Given the description of an element on the screen output the (x, y) to click on. 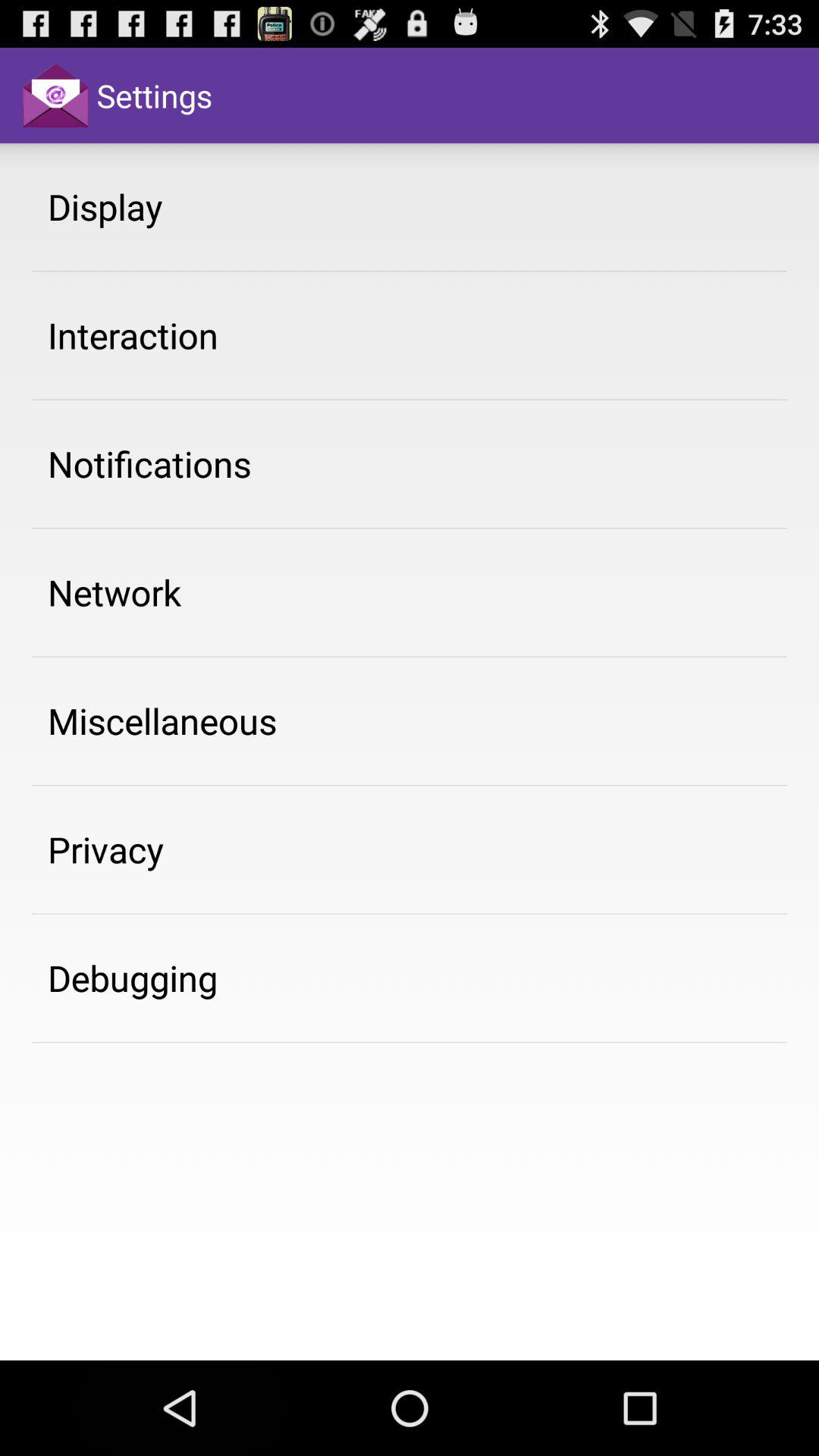
launch item above the network app (149, 463)
